Given the description of an element on the screen output the (x, y) to click on. 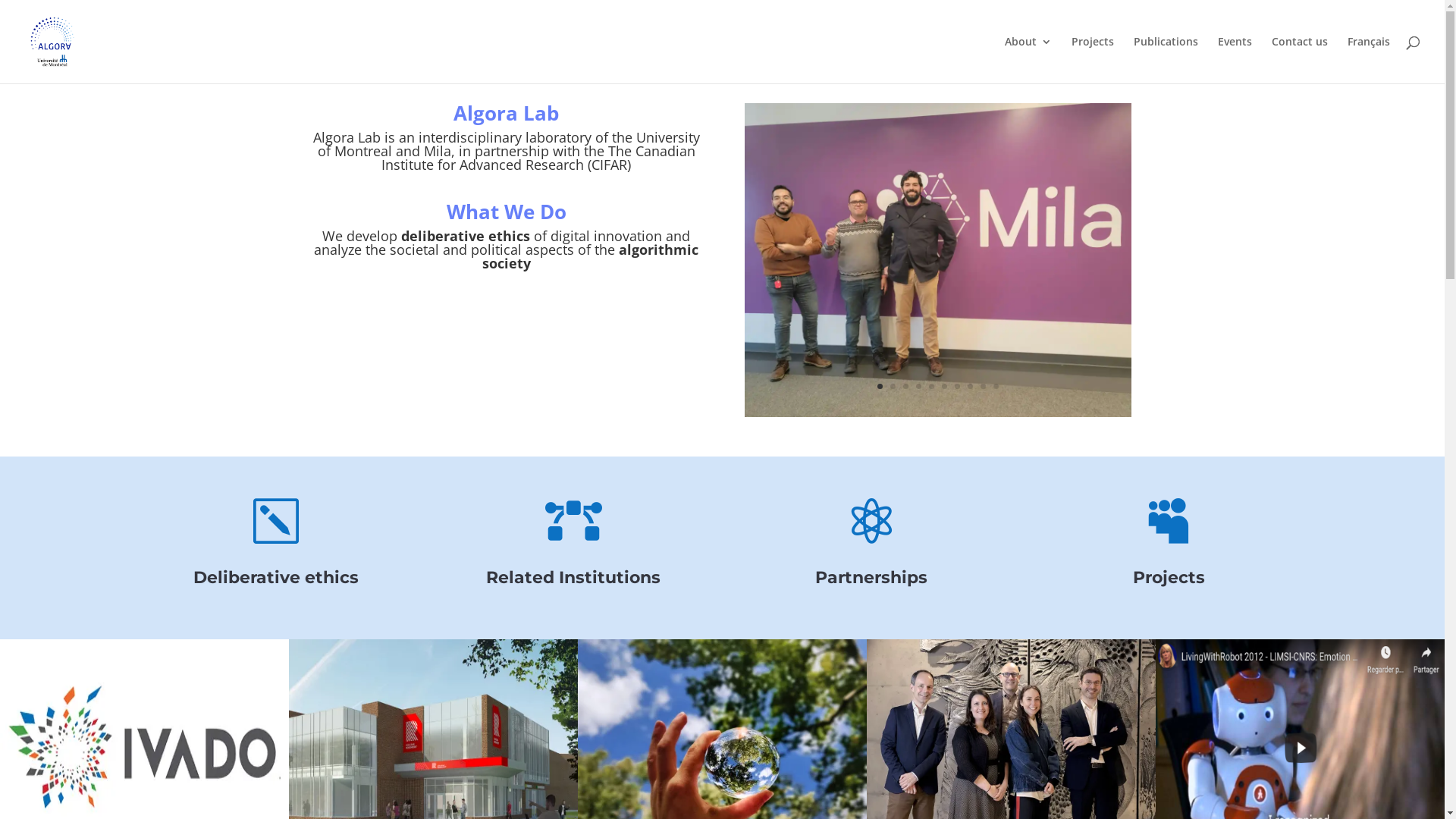
2 Element type: text (892, 386)
Publications Element type: text (1165, 59)
Events Element type: text (1234, 59)
7 Element type: text (957, 386)
Partnerships Element type: text (871, 577)
k Element type: text (275, 520)
1 Element type: text (879, 386)
Projects Element type: text (1092, 59)
Projects Element type: text (1168, 577)
8 Element type: text (969, 386)
Related Institutions Element type: text (573, 577)
9 Element type: text (982, 386)
3 Element type: text (905, 386)
5 Element type: text (931, 386)
10 Element type: text (995, 386)
Contact us Element type: text (1299, 59)
6 Element type: text (944, 386)
Deliberative ethics Element type: text (275, 577)
4 Element type: text (918, 386)
About Element type: text (1027, 59)
